Given the description of an element on the screen output the (x, y) to click on. 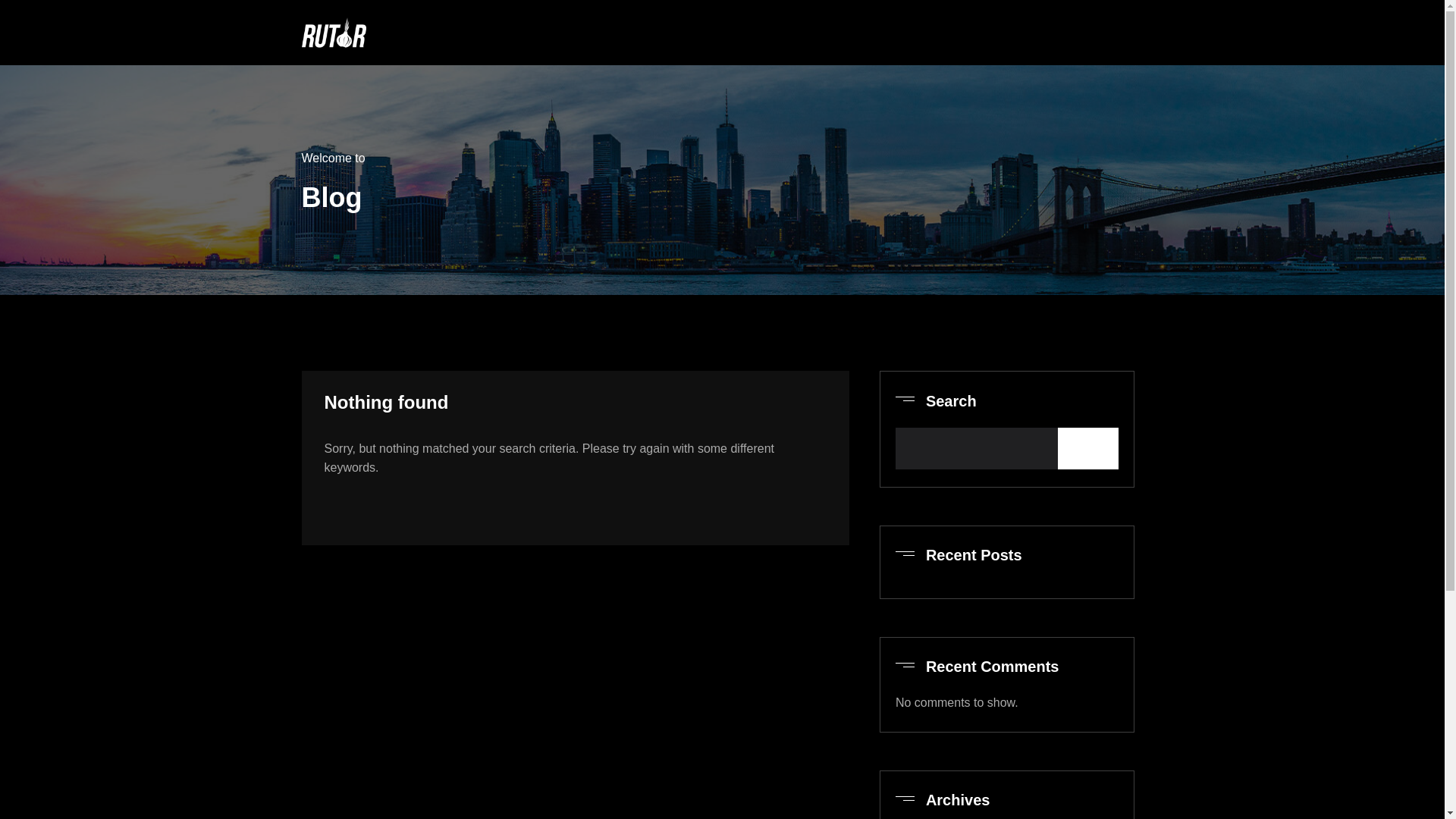
Search (1088, 448)
